Given the description of an element on the screen output the (x, y) to click on. 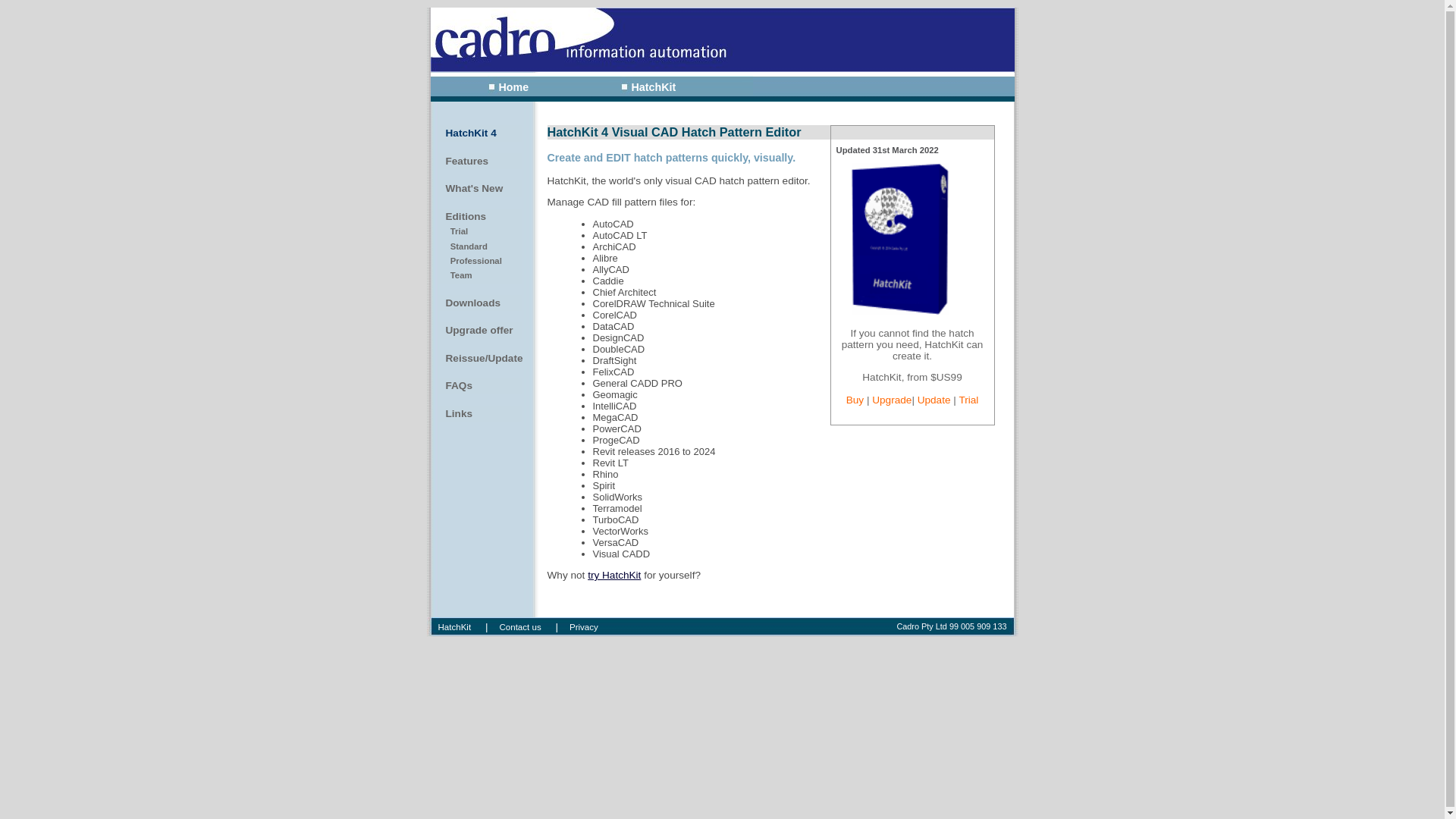
Editions Element type: text (479, 216)
HatchKit Element type: text (454, 626)
  Standard Element type: text (479, 246)
  Professional Element type: text (479, 261)
Downloads Element type: text (479, 302)
FAQs Element type: text (479, 385)
Privacy Element type: text (583, 626)
Features Element type: text (479, 161)
  Team Element type: text (479, 275)
Upgrade offer Element type: text (479, 330)
try HatchKit Element type: text (613, 574)
Update Element type: text (933, 399)
Contact us Element type: text (519, 626)
HatchKit Element type: text (648, 87)
Home Element type: text (507, 87)
Reissue/Update Element type: text (479, 358)
Upgrade Element type: text (891, 399)
Trial Element type: text (968, 399)
Links Element type: text (479, 413)
What's New Element type: text (479, 188)
Buy Element type: text (854, 399)
HatchKit 4 Element type: text (479, 133)
  Trial Element type: text (479, 231)
